Given the description of an element on the screen output the (x, y) to click on. 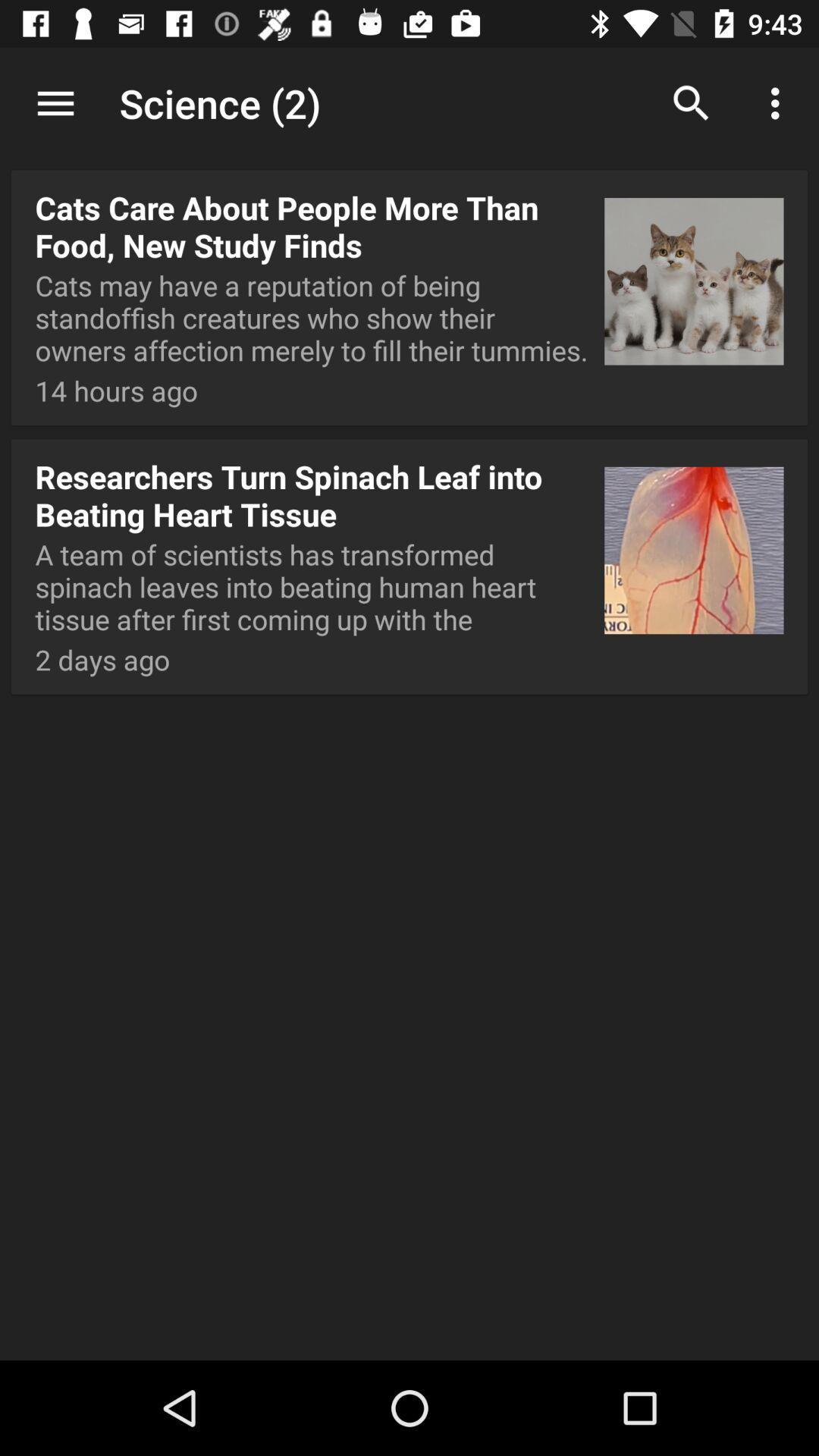
turn on the app above the cats care about (409, 105)
